Given the description of an element on the screen output the (x, y) to click on. 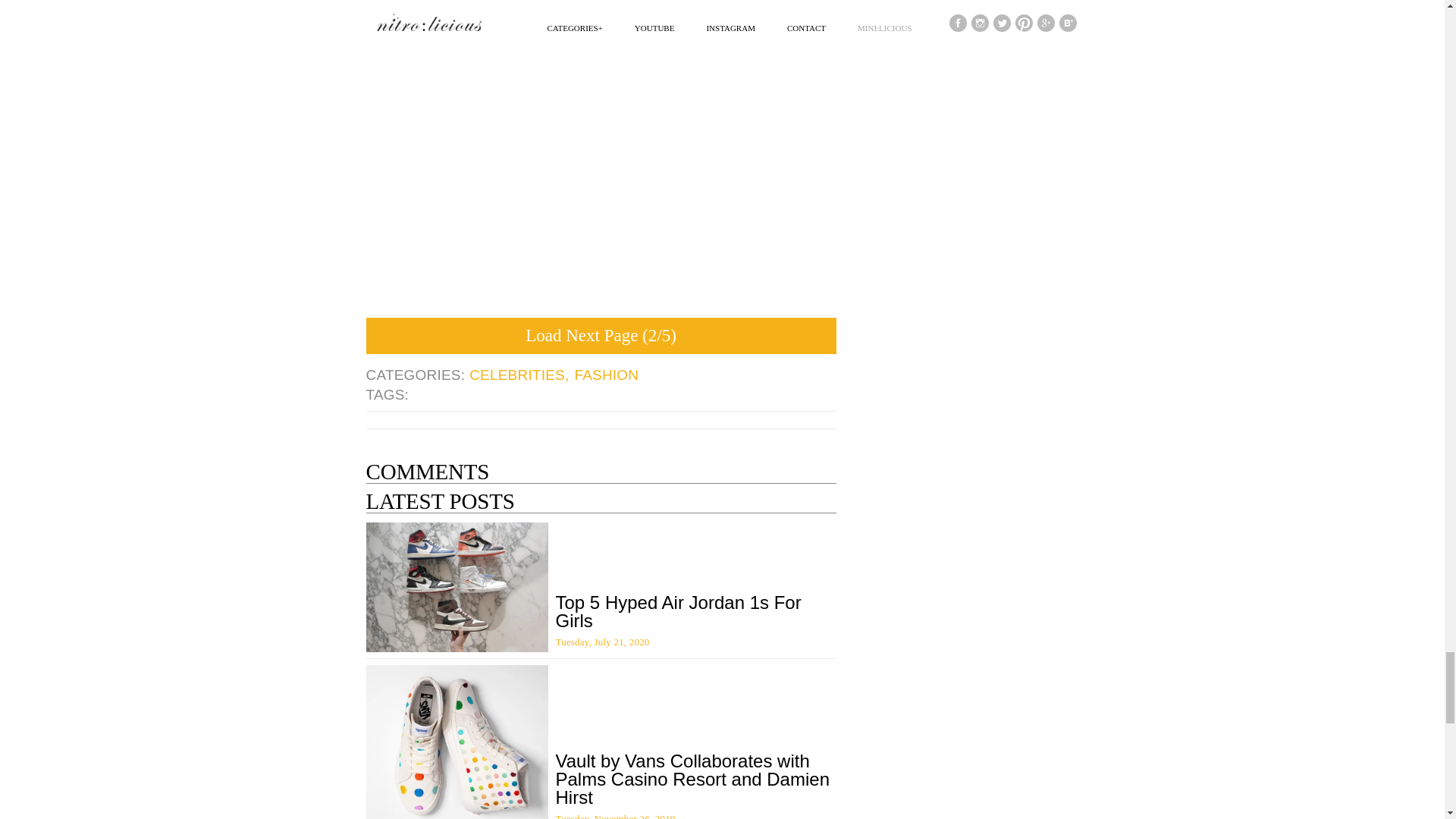
FASHION (606, 375)
CELEBRITIES (519, 375)
Top 5 Hyped Air Jordan 1s For Girls (677, 611)
